Given the description of an element on the screen output the (x, y) to click on. 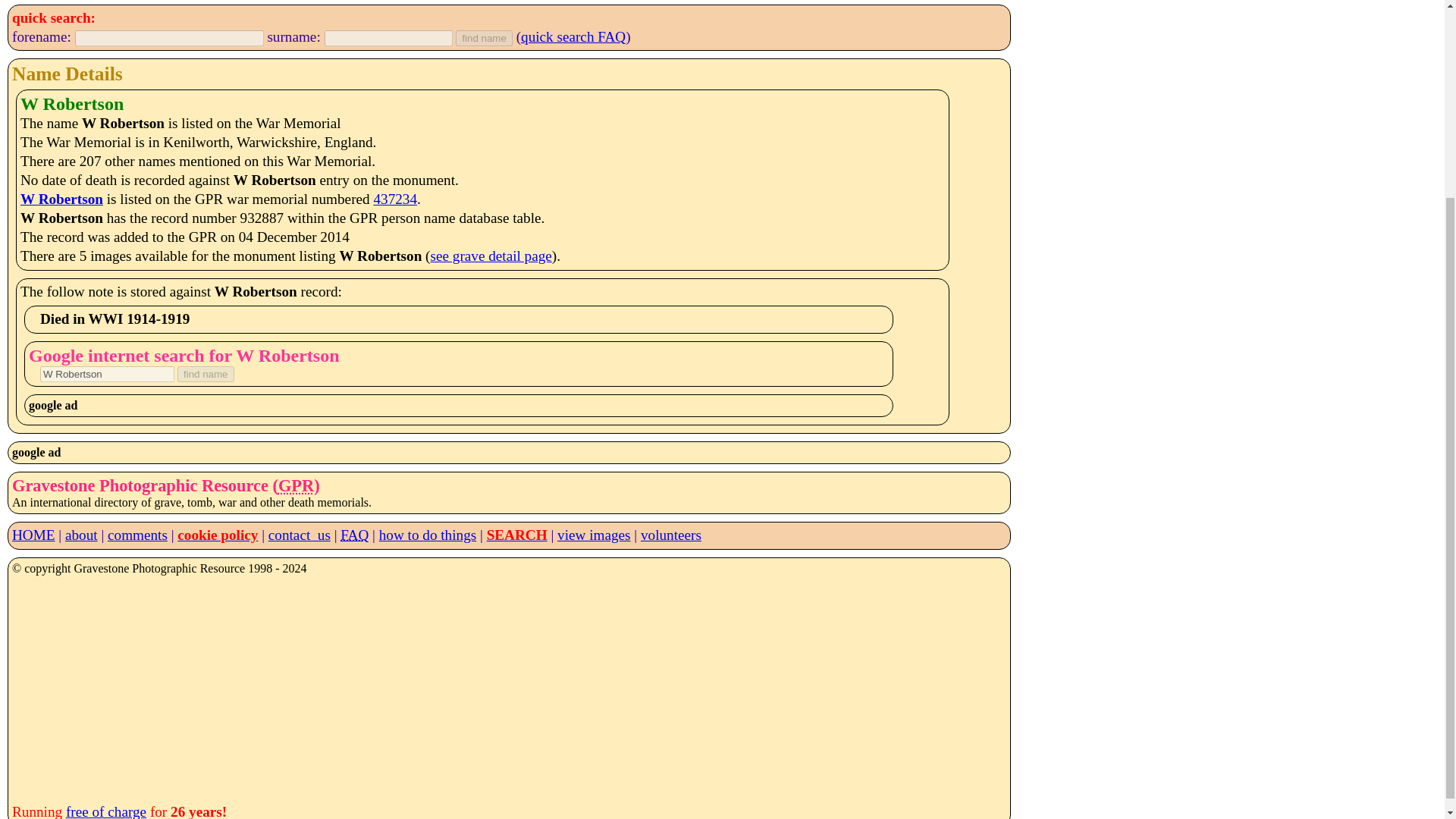
find name (483, 37)
see grave detail page (490, 255)
Gravestone Photographic Resource (296, 485)
how to do things (427, 534)
FAQ (354, 534)
cookie policy (217, 534)
W Robertson (107, 374)
W Robertson (61, 198)
W Robertson (107, 374)
